Given the description of an element on the screen output the (x, y) to click on. 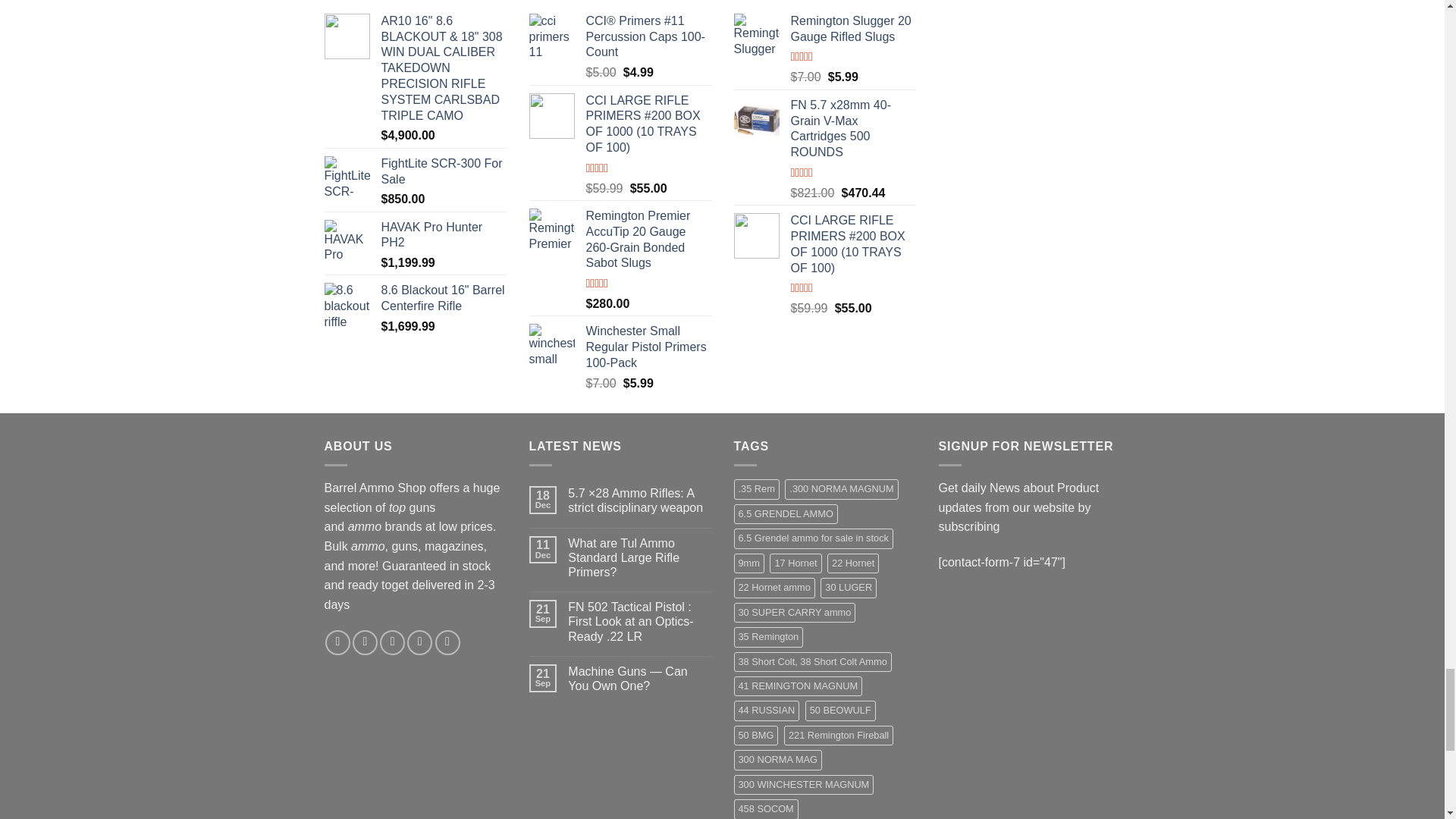
What are Tul Ammo Standard Large Rifle Primers? (638, 557)
